Given the description of an element on the screen output the (x, y) to click on. 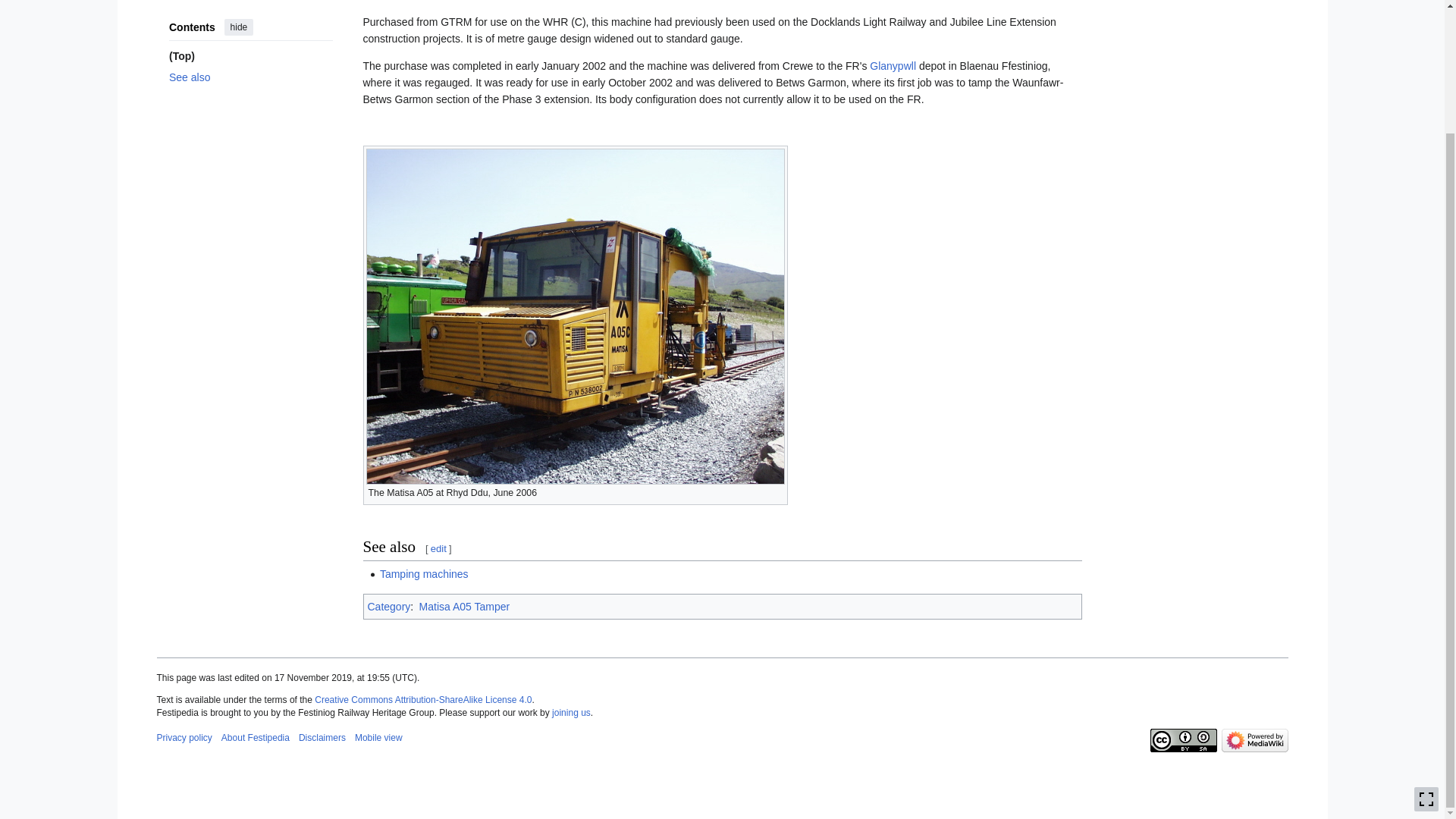
See also (249, 14)
